Given the description of an element on the screen output the (x, y) to click on. 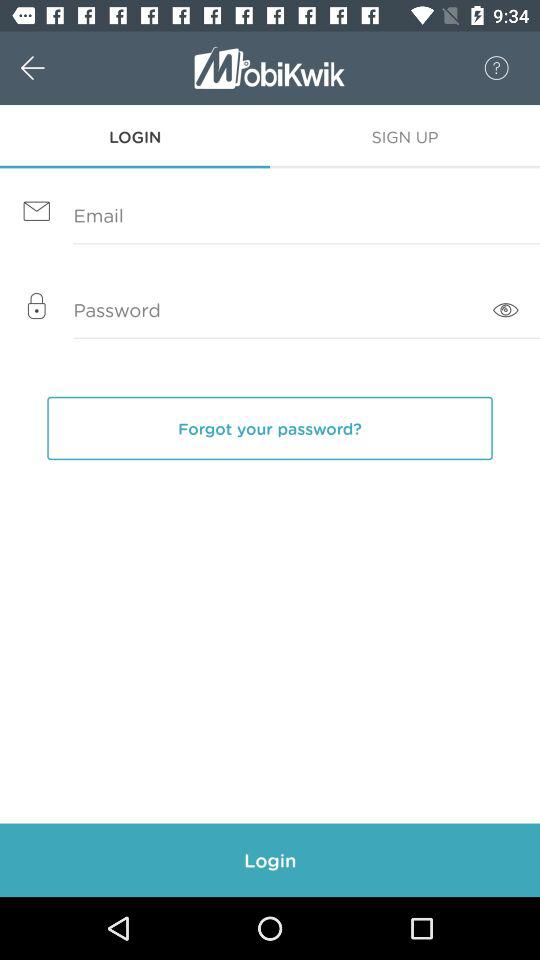
enter email address (270, 216)
